Given the description of an element on the screen output the (x, y) to click on. 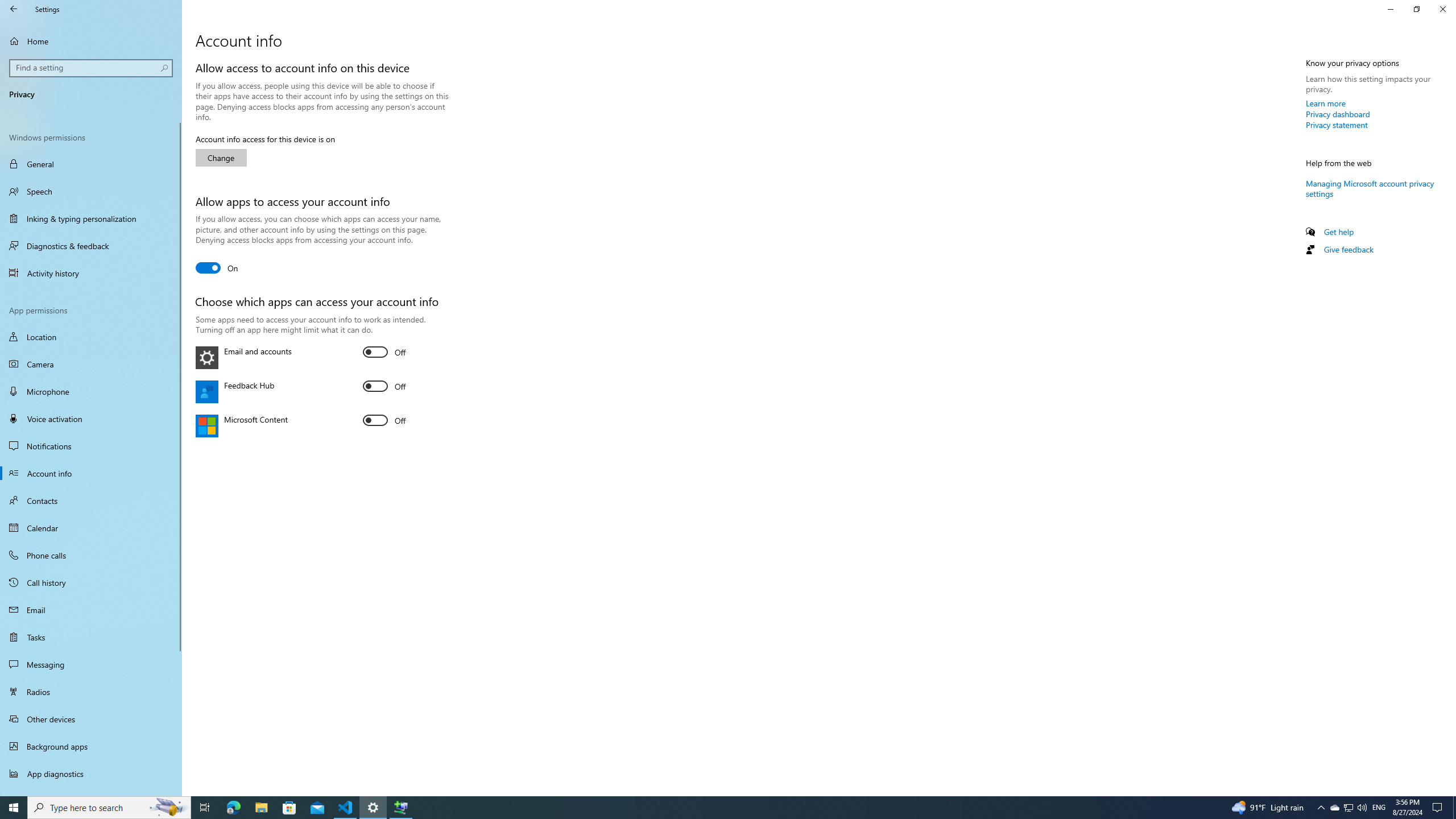
General (91, 163)
Camera (91, 363)
Managing Microsoft account privacy settings (1370, 188)
Search box, Find a setting (91, 67)
Give feedback (1348, 249)
Show desktop (1454, 807)
Settings - 1 running window (373, 807)
Notifications (91, 445)
Account info (91, 472)
Feedback Hub (384, 385)
Other devices (91, 718)
Task View (1347, 807)
Notification Chevron (204, 807)
User Promoted Notification Area (1320, 807)
